Given the description of an element on the screen output the (x, y) to click on. 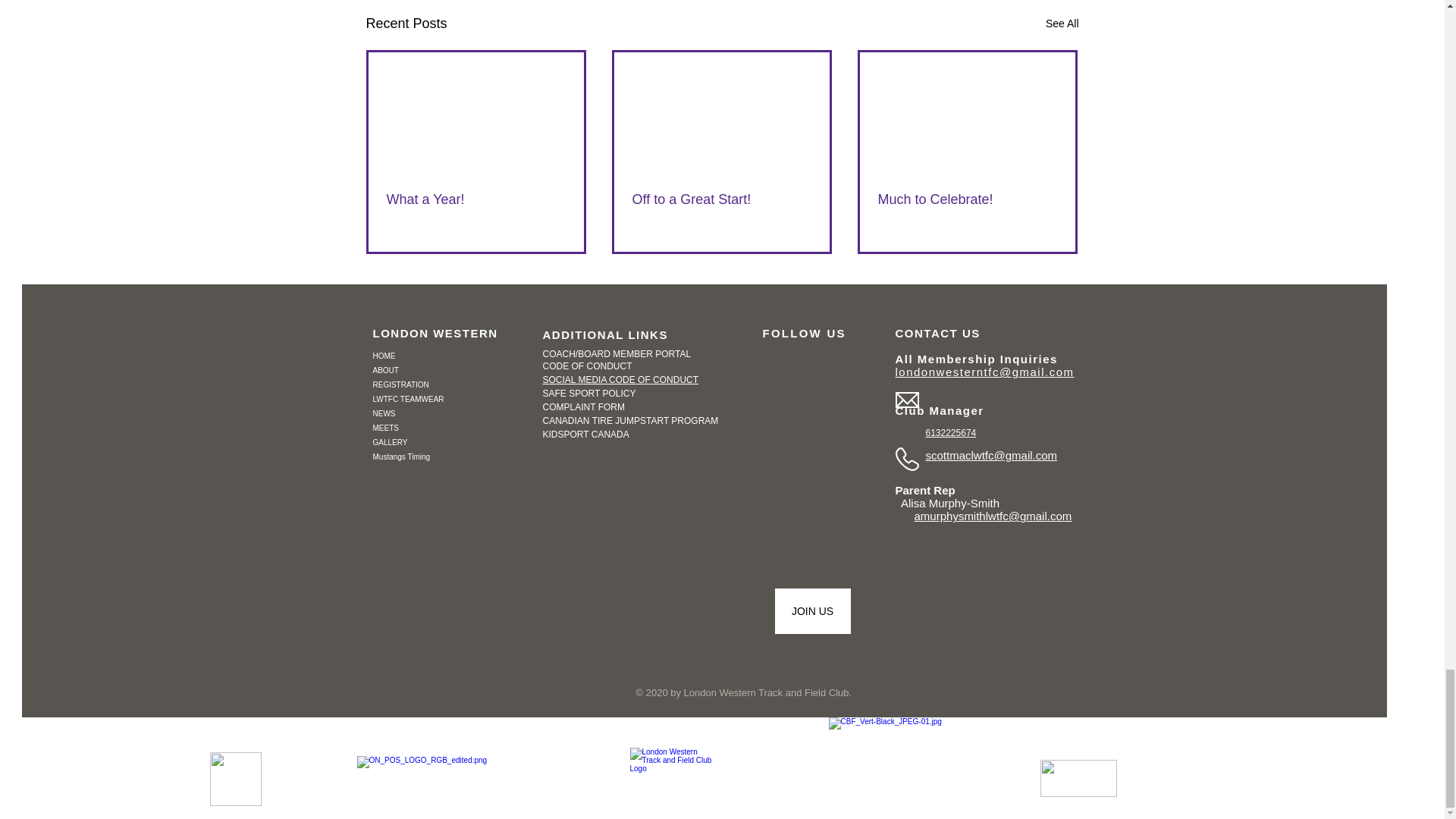
What a Year! (476, 199)
Much to Celebrate! (967, 199)
Off to a Great Start! (720, 199)
HOME (440, 355)
See All (1061, 24)
ABOUT (440, 370)
